Given the description of an element on the screen output the (x, y) to click on. 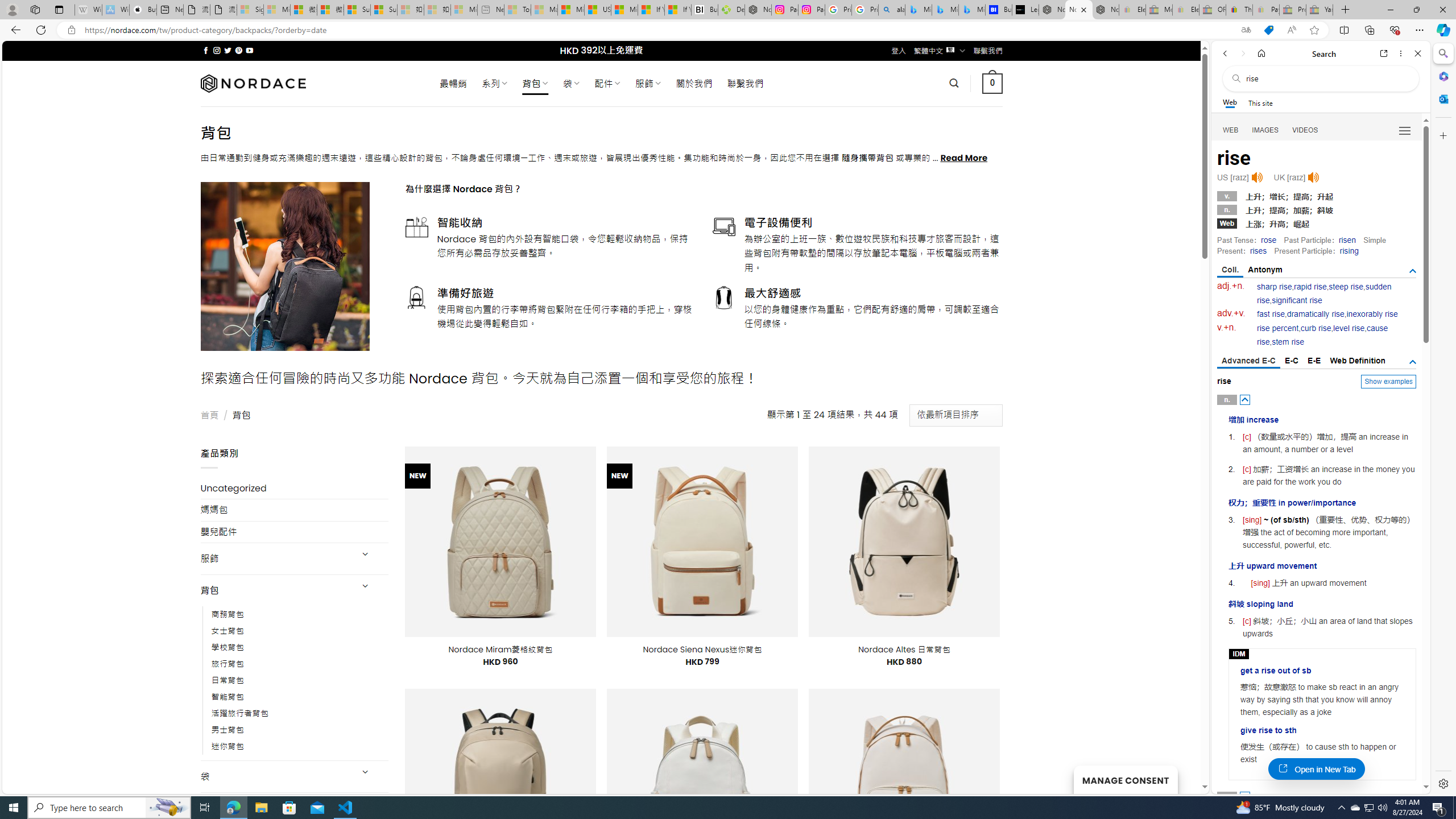
curb rise (1315, 328)
E-E (1314, 360)
This site scope (1259, 102)
level rise (1349, 328)
alabama high school quarterback dies - Search (891, 9)
New tab - Sleeping (491, 9)
Follow on YouTube (249, 50)
Follow on Twitter (227, 50)
